Given the description of an element on the screen output the (x, y) to click on. 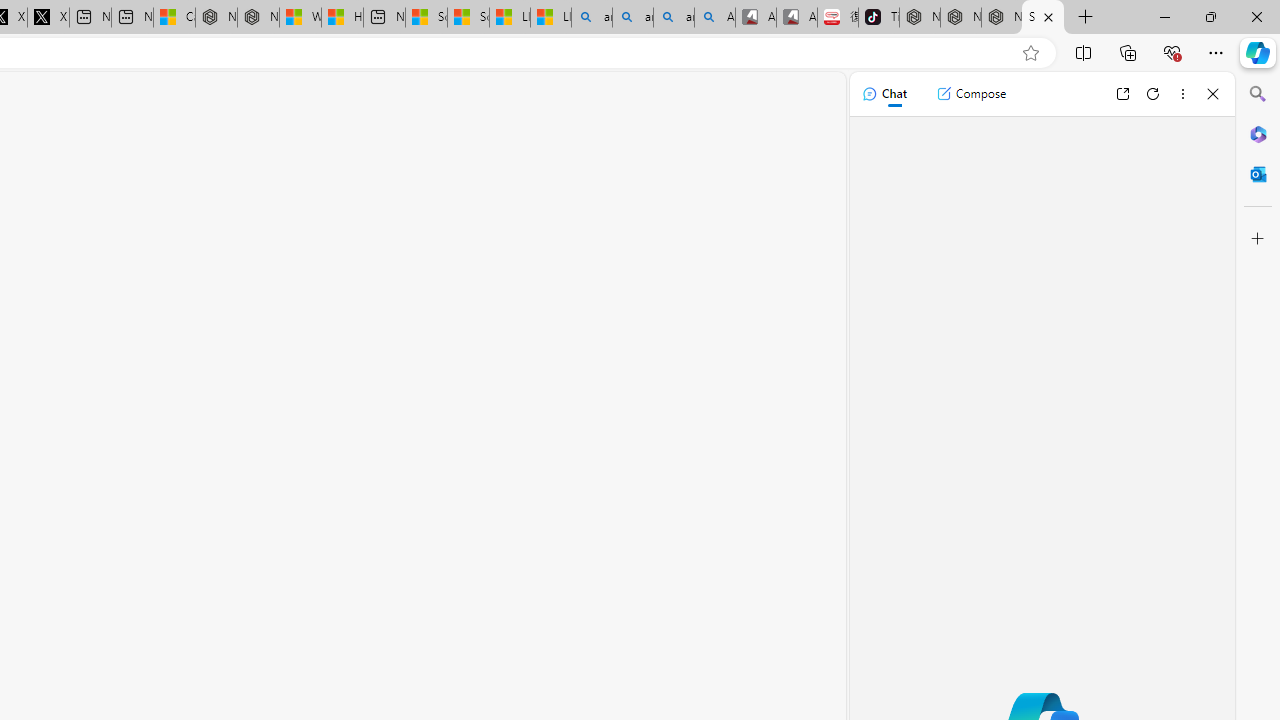
Nordace - Siena Pro 15 Essential Set (1001, 17)
Amazon Echo Robot - Search Images (714, 17)
Customize (1258, 239)
